Given the description of an element on the screen output the (x, y) to click on. 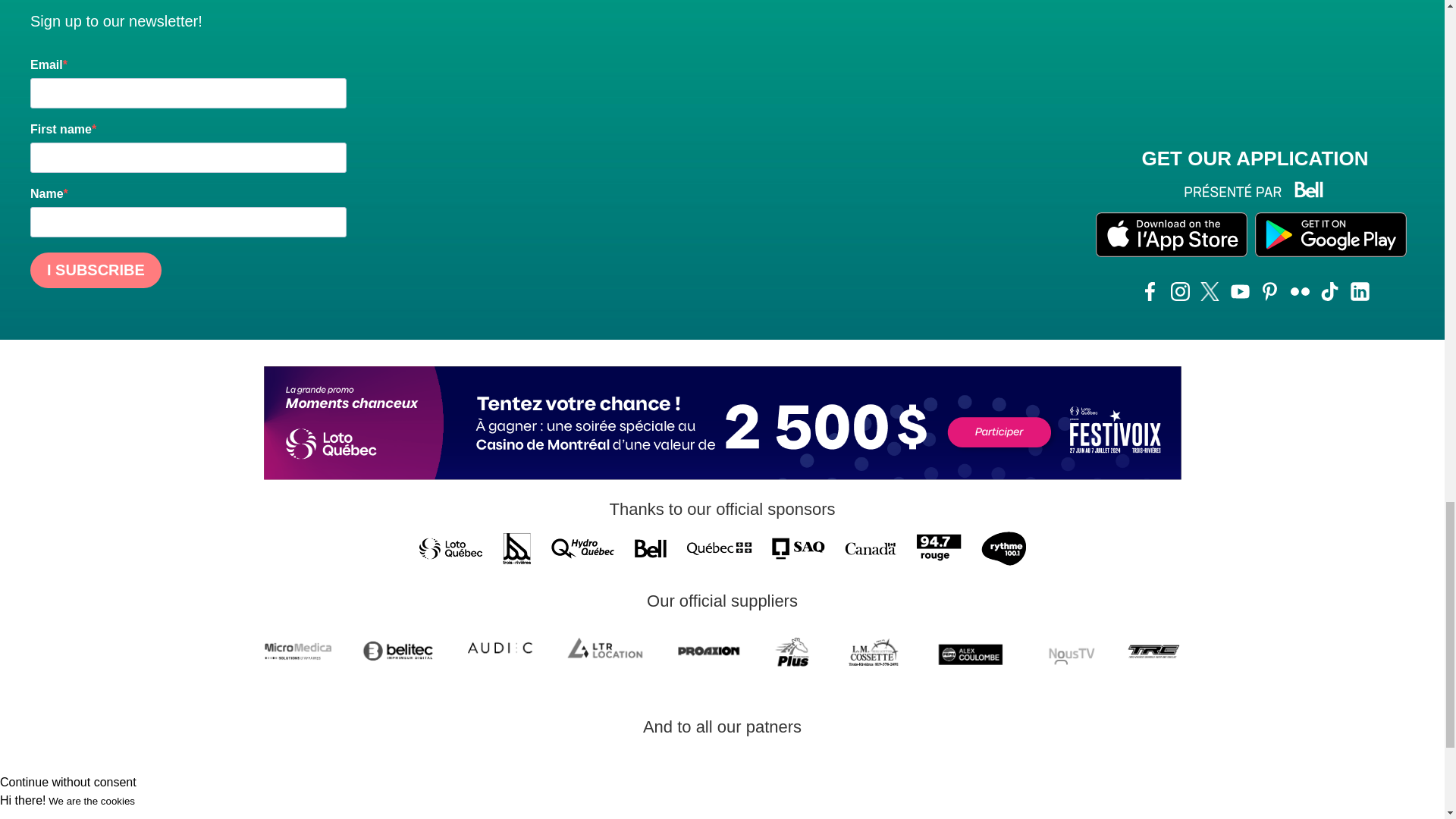
I SUBSCRIBE (95, 270)
